Given the description of an element on the screen output the (x, y) to click on. 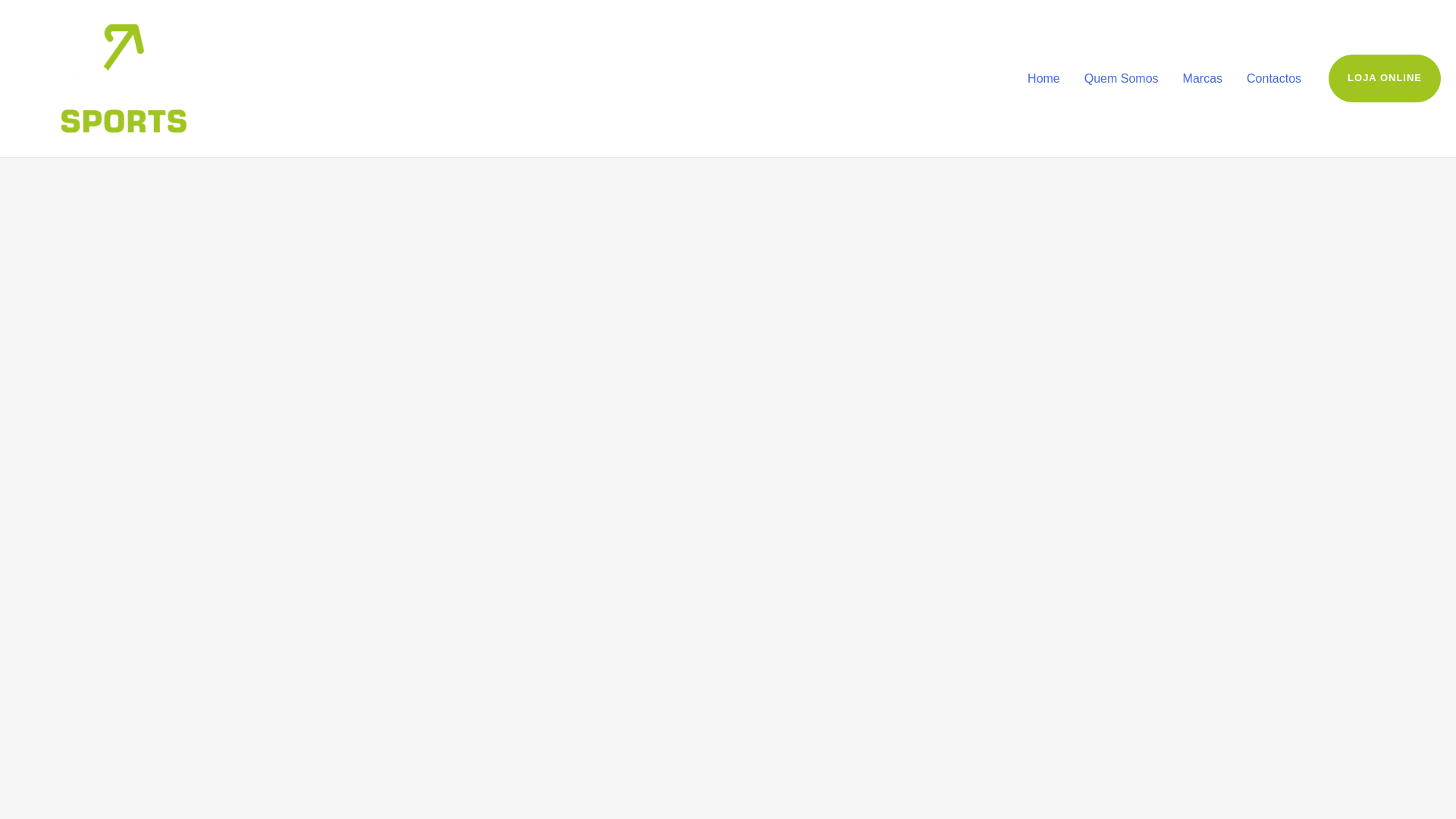
Contactos (1273, 77)
Quem Somos (1120, 77)
LOJA ONLINE (1384, 77)
Marcas (1202, 77)
Home (1042, 77)
